Given the description of an element on the screen output the (x, y) to click on. 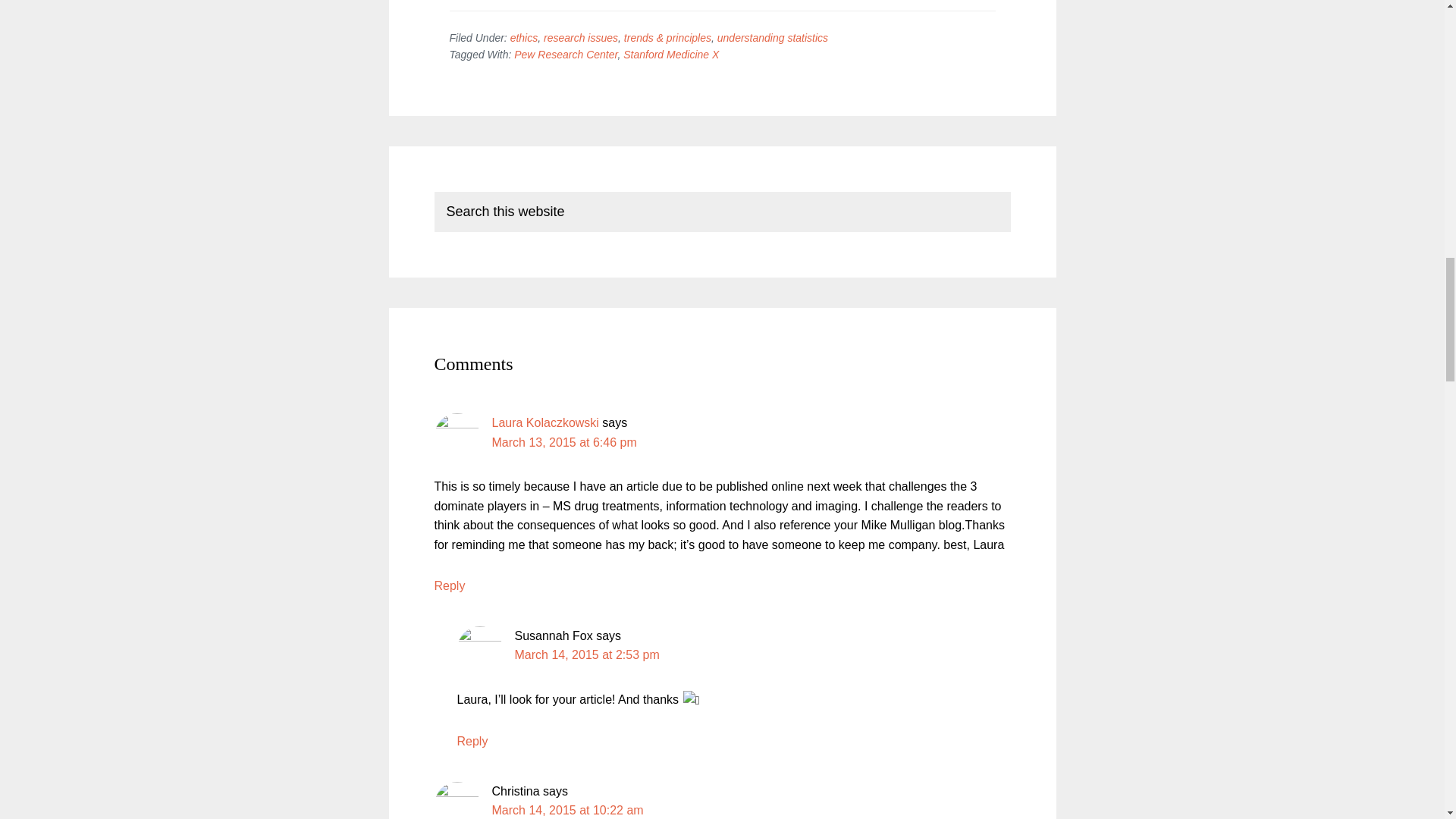
Stanford Medicine X (671, 54)
research issues (580, 37)
Pew Research Center (565, 54)
ethics (524, 37)
Laura Kolaczkowski (545, 422)
understanding statistics (772, 37)
